Given the description of an element on the screen output the (x, y) to click on. 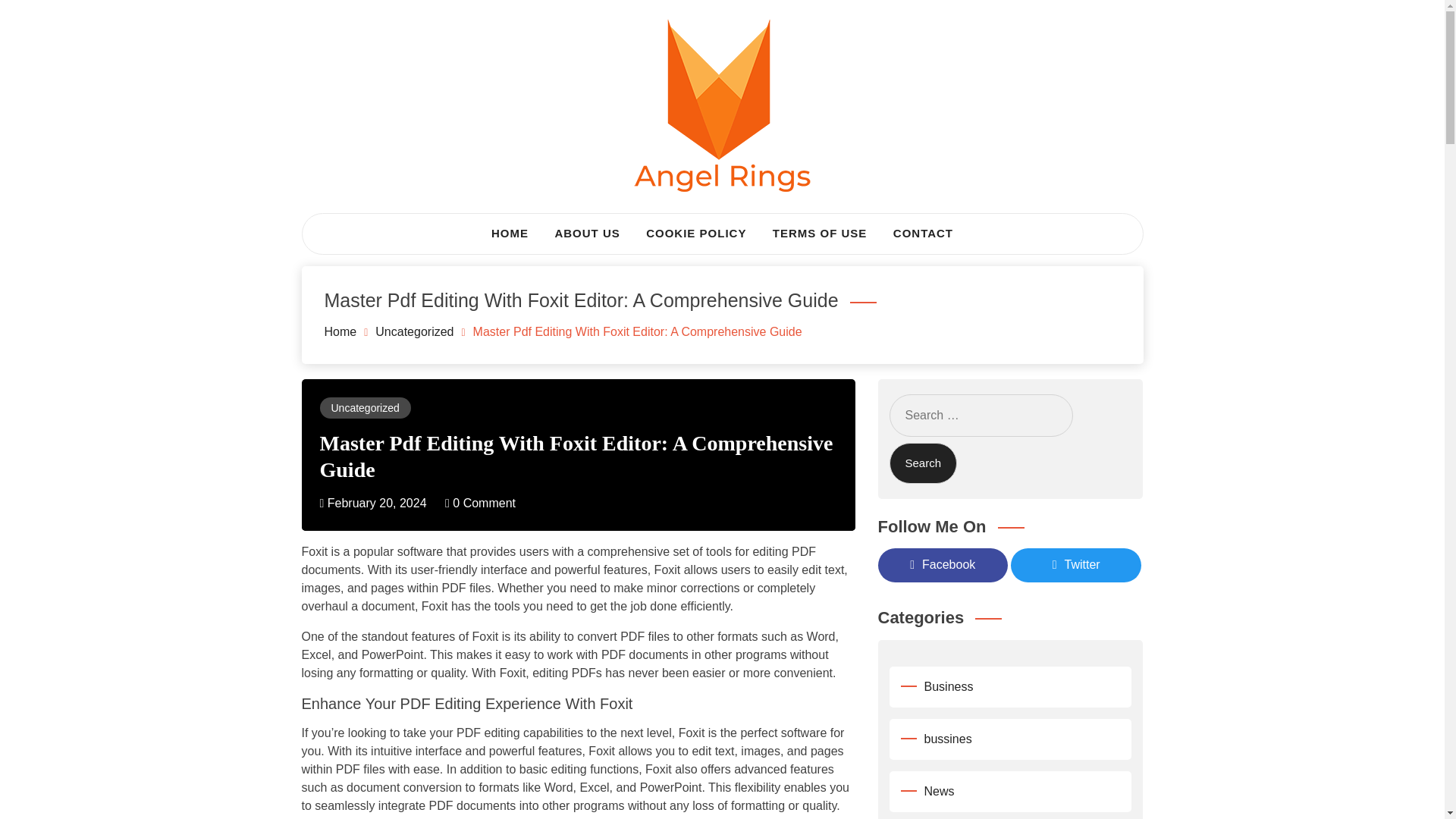
Angel Rings (396, 231)
Home (340, 330)
CONTACT (922, 233)
COOKIE POLICY (695, 233)
0 Comment (480, 502)
editor pdf Foxit (794, 818)
ABOUT US (586, 233)
HOME (510, 233)
TERMS OF USE (820, 233)
Search (922, 463)
Uncategorized (364, 408)
Master Pdf Editing With Foxit Editor: A Comprehensive Guide (576, 455)
Uncategorized (413, 330)
Search (922, 463)
